Given the description of an element on the screen output the (x, y) to click on. 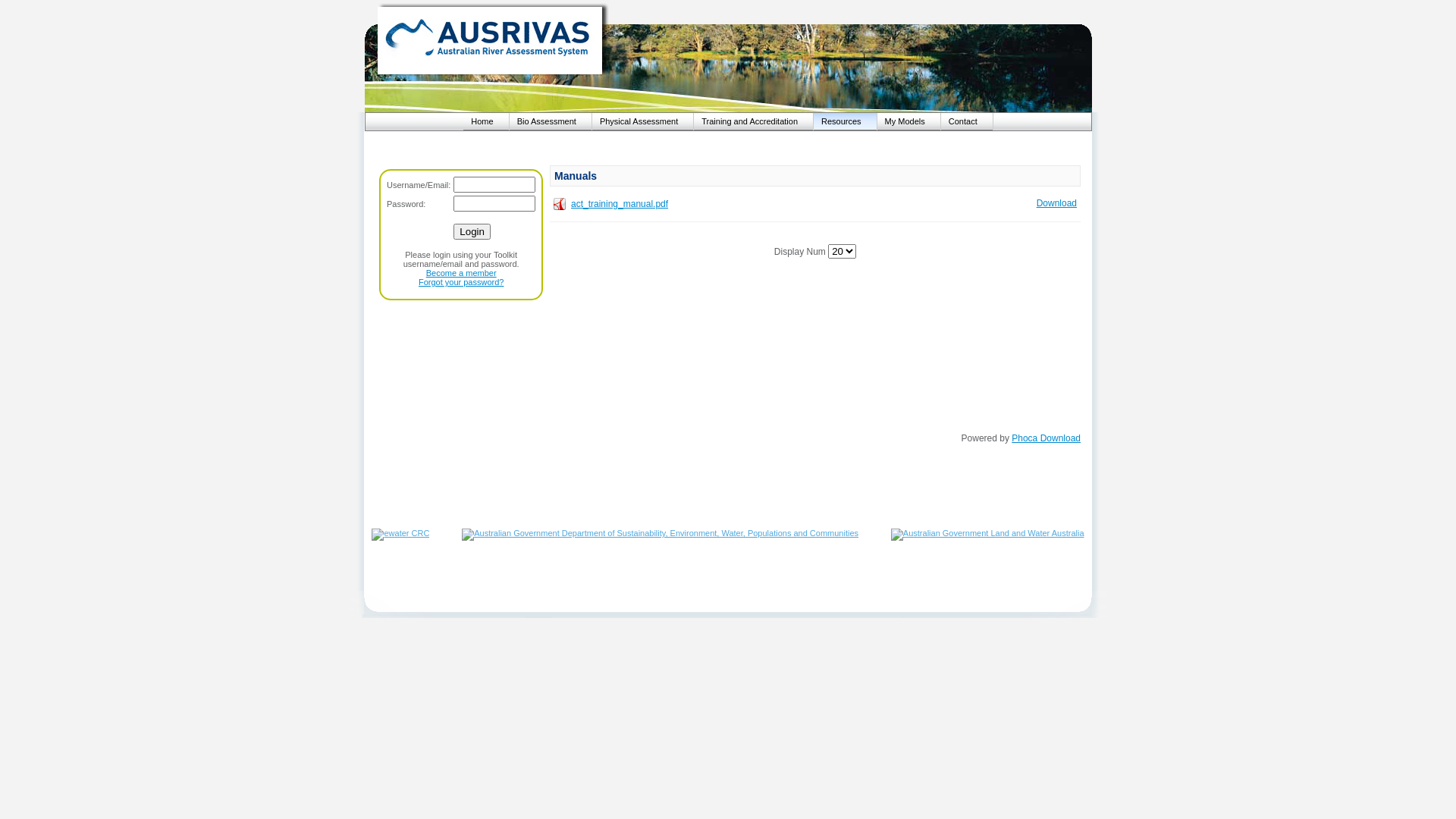
Home Element type: text (485, 121)
Contact Element type: text (966, 121)
Download Element type: text (1056, 202)
Bio Assessment Element type: text (550, 121)
Training and Accreditation Element type: text (752, 121)
My Models Element type: text (908, 121)
act_training_manual.pdf Element type: text (619, 203)
Resources Element type: text (844, 121)
Phoca Download Element type: text (1045, 438)
Physical Assessment Element type: text (642, 121)
Login Element type: text (471, 231)
Forgot your password? Element type: text (461, 281)
Become a member Element type: text (461, 272)
